Given the description of an element on the screen output the (x, y) to click on. 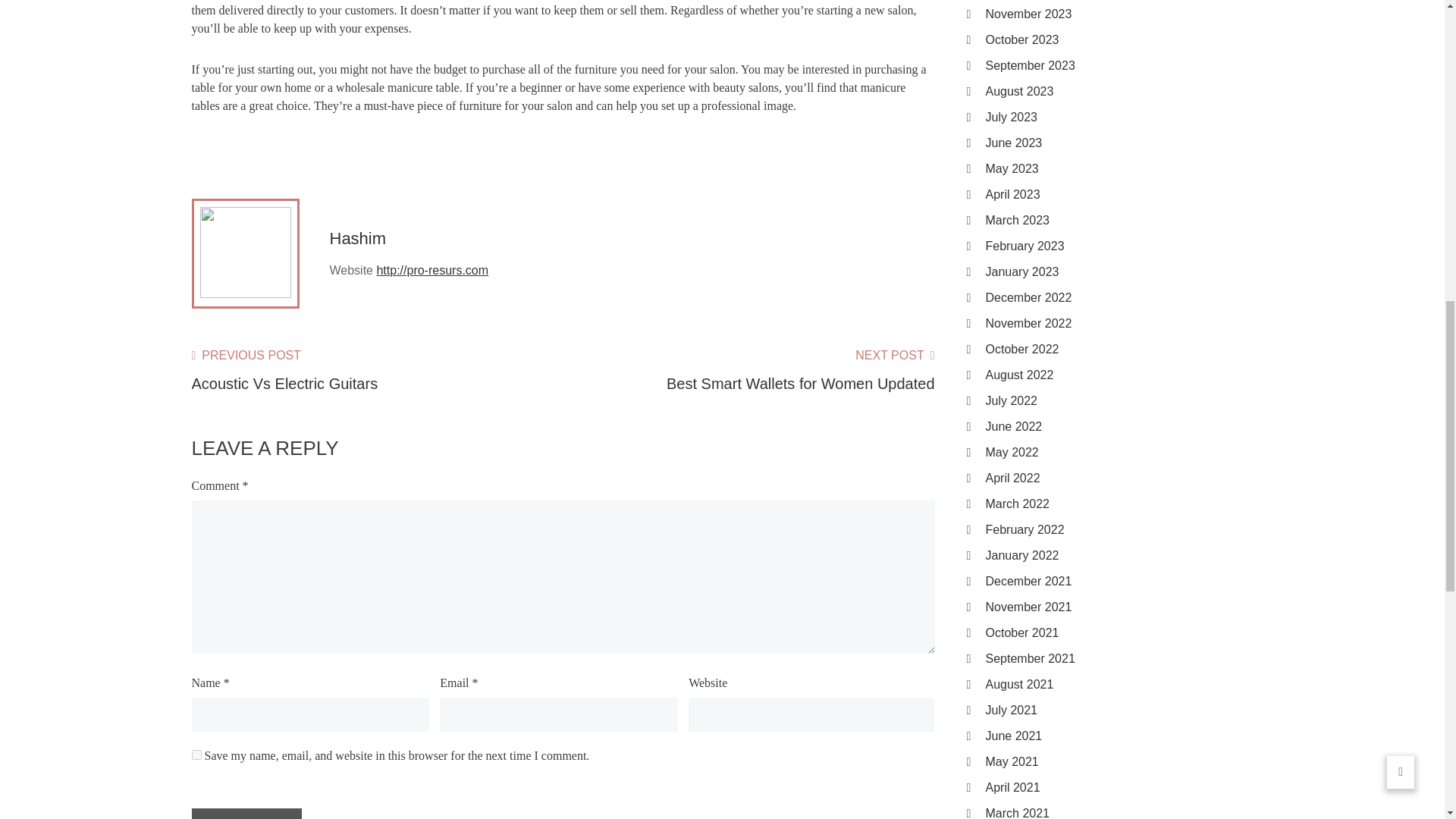
Posts by Hashim (357, 238)
October 2023 (1119, 40)
yes (195, 755)
November 2023 (1119, 13)
Post Comment (245, 813)
Post Comment (283, 370)
Hashim (748, 370)
